Given the description of an element on the screen output the (x, y) to click on. 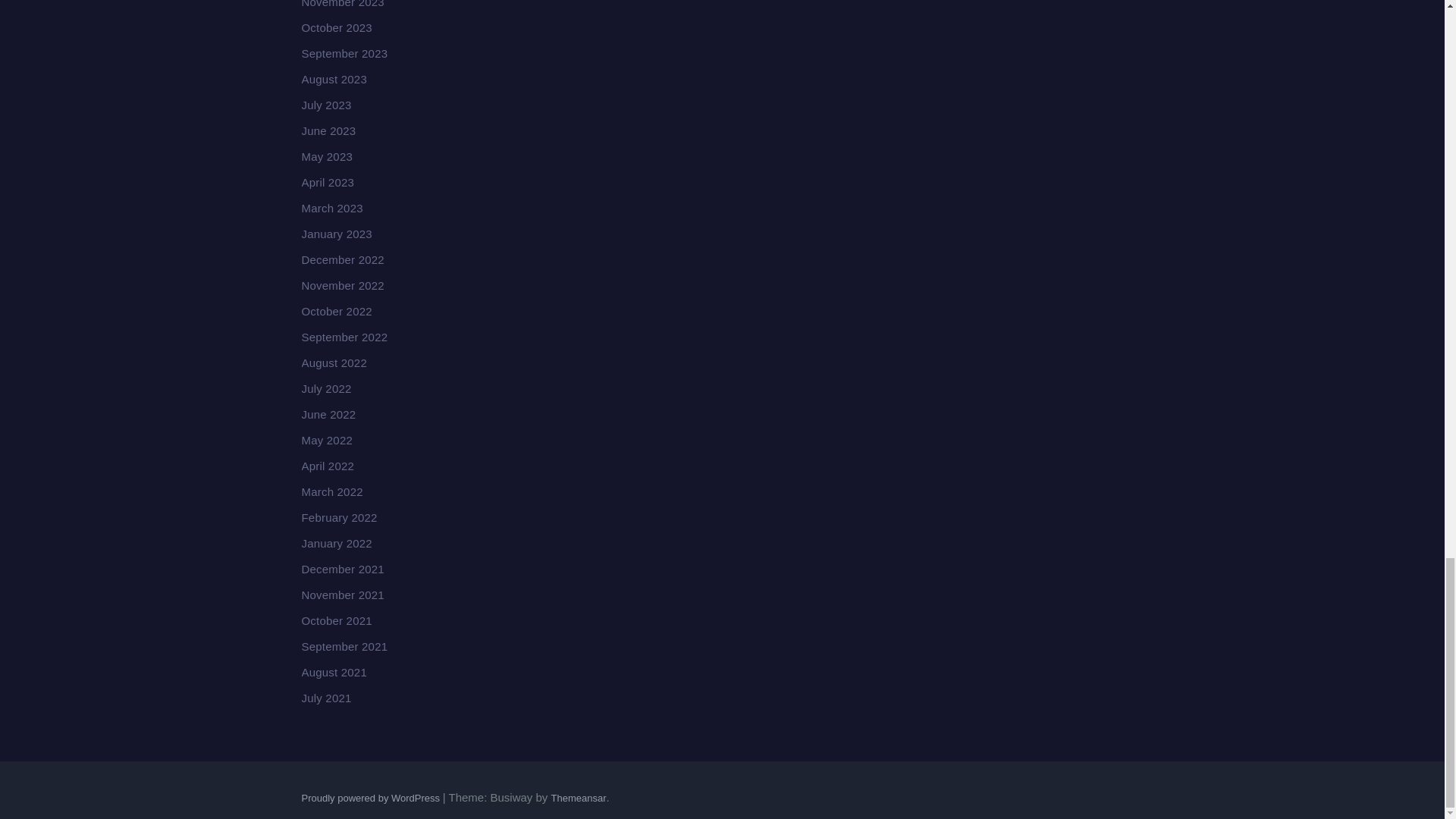
November 2023 (342, 4)
April 2023 (328, 182)
June 2023 (328, 130)
October 2023 (336, 27)
May 2023 (326, 155)
January 2023 (336, 233)
March 2023 (331, 207)
July 2023 (326, 104)
September 2023 (344, 52)
August 2023 (333, 78)
